Given the description of an element on the screen output the (x, y) to click on. 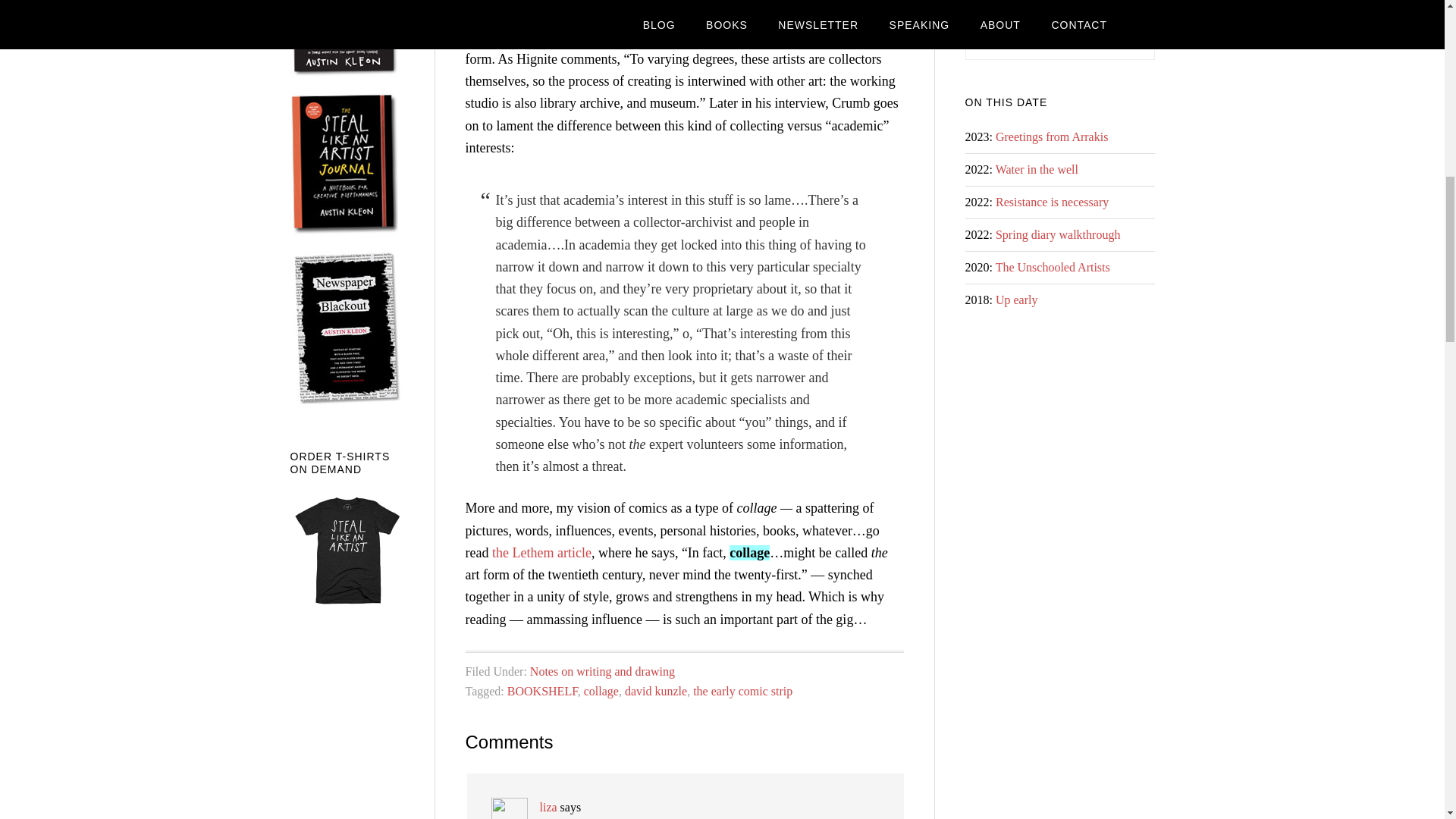
the early comic strip (742, 690)
liza (548, 807)
Notes on writing and drawing (602, 671)
the Lethem article (541, 552)
BOOKSHELF (542, 690)
collage (600, 690)
david kunzle (655, 690)
